Given the description of an element on the screen output the (x, y) to click on. 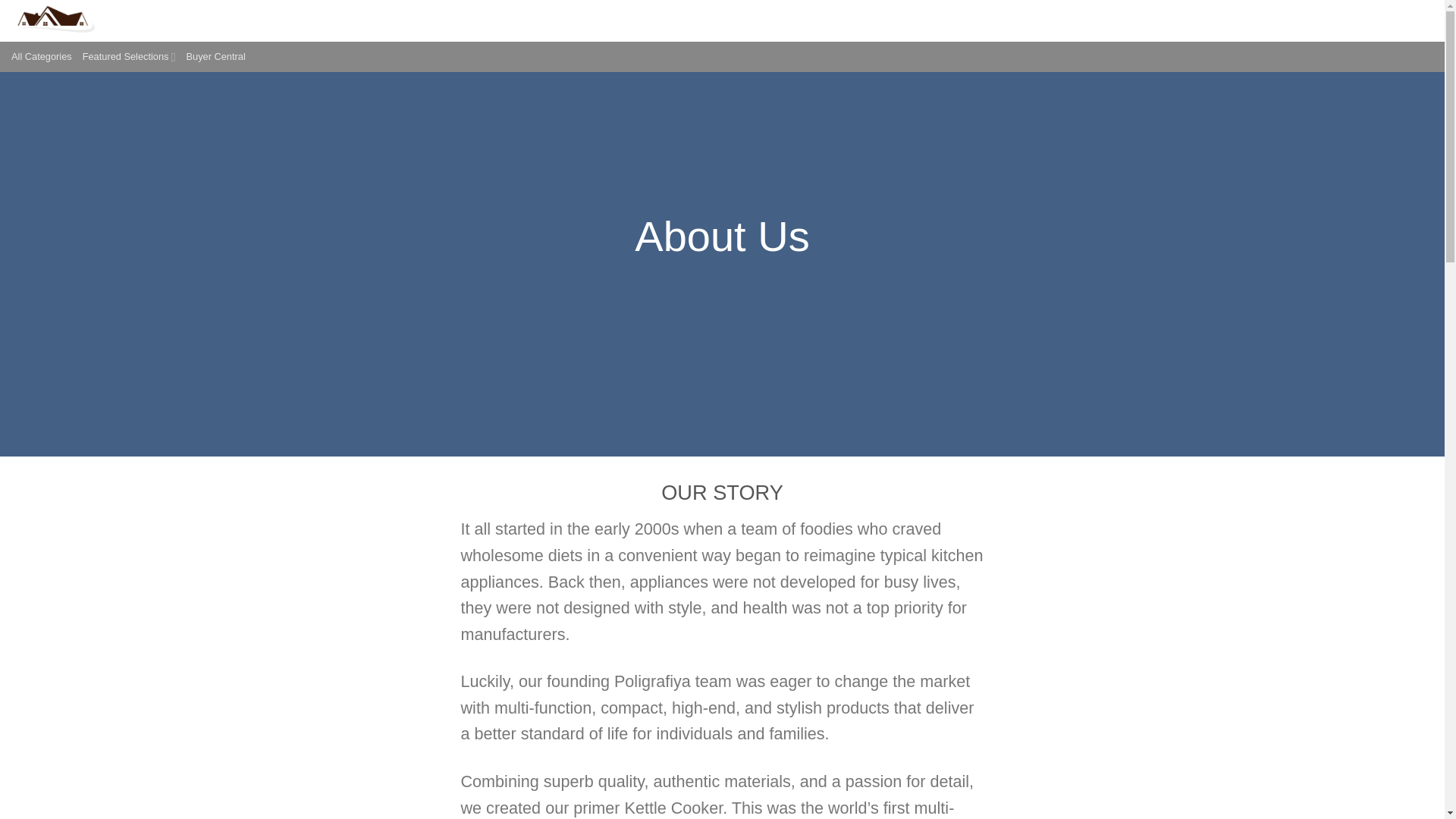
Featured Selections (129, 56)
All Categories (41, 56)
Buyer Central (216, 56)
Poligrafiya (87, 20)
Cart (1410, 20)
